Given the description of an element on the screen output the (x, y) to click on. 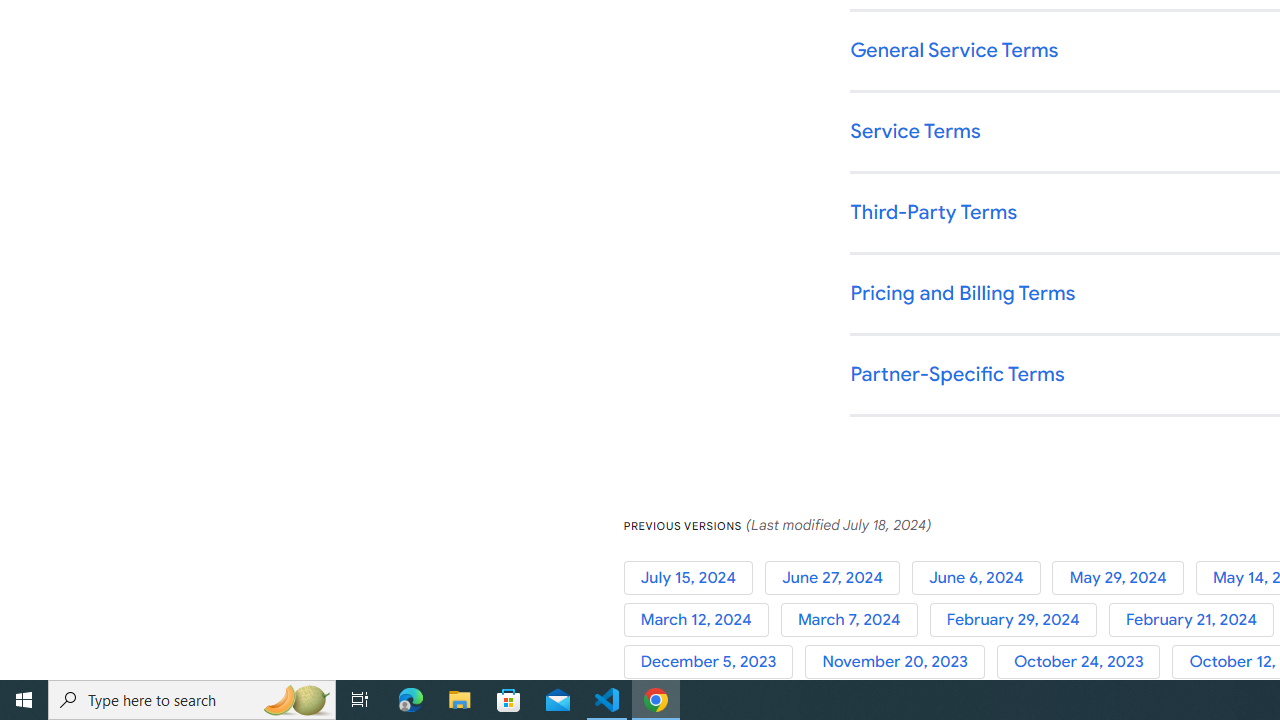
March 12, 2024 (701, 620)
June 27, 2024 (837, 577)
March 7, 2024 (854, 620)
June 6, 2024 (982, 577)
December 5, 2023 (714, 661)
July 15, 2024 (694, 577)
February 29, 2024 (1018, 620)
November 20, 2023 (901, 661)
May 29, 2024 (1123, 577)
October 24, 2023 (1083, 661)
